Given the description of an element on the screen output the (x, y) to click on. 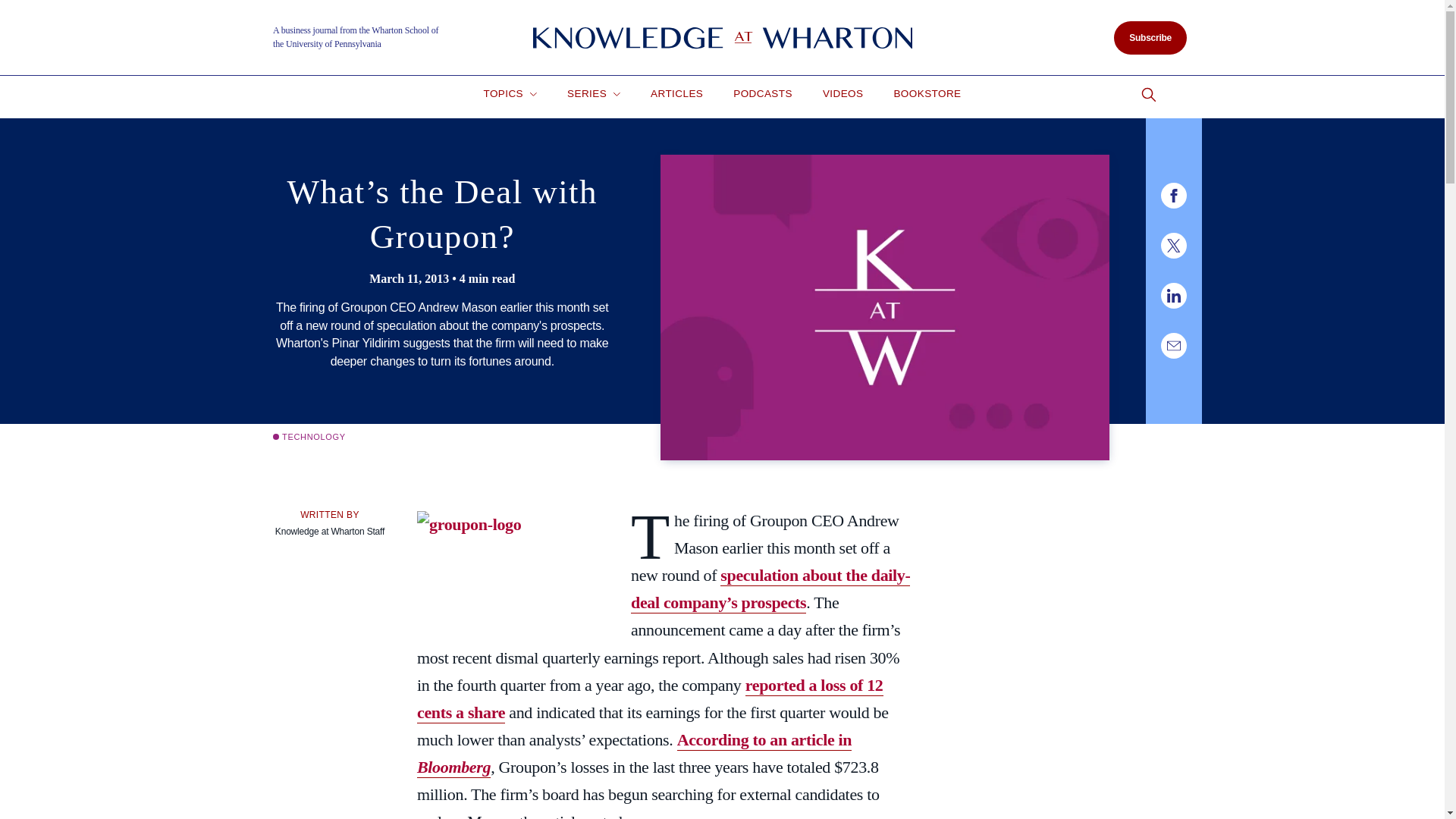
Share this page on LinkedIn (1173, 295)
Subscribe (1149, 37)
Share this page on Twitter (1173, 245)
Share this page on Facebook (1173, 195)
Go to site search (1148, 94)
Knowledge at Wharton (721, 37)
Share this page by email (1173, 345)
